Given the description of an element on the screen output the (x, y) to click on. 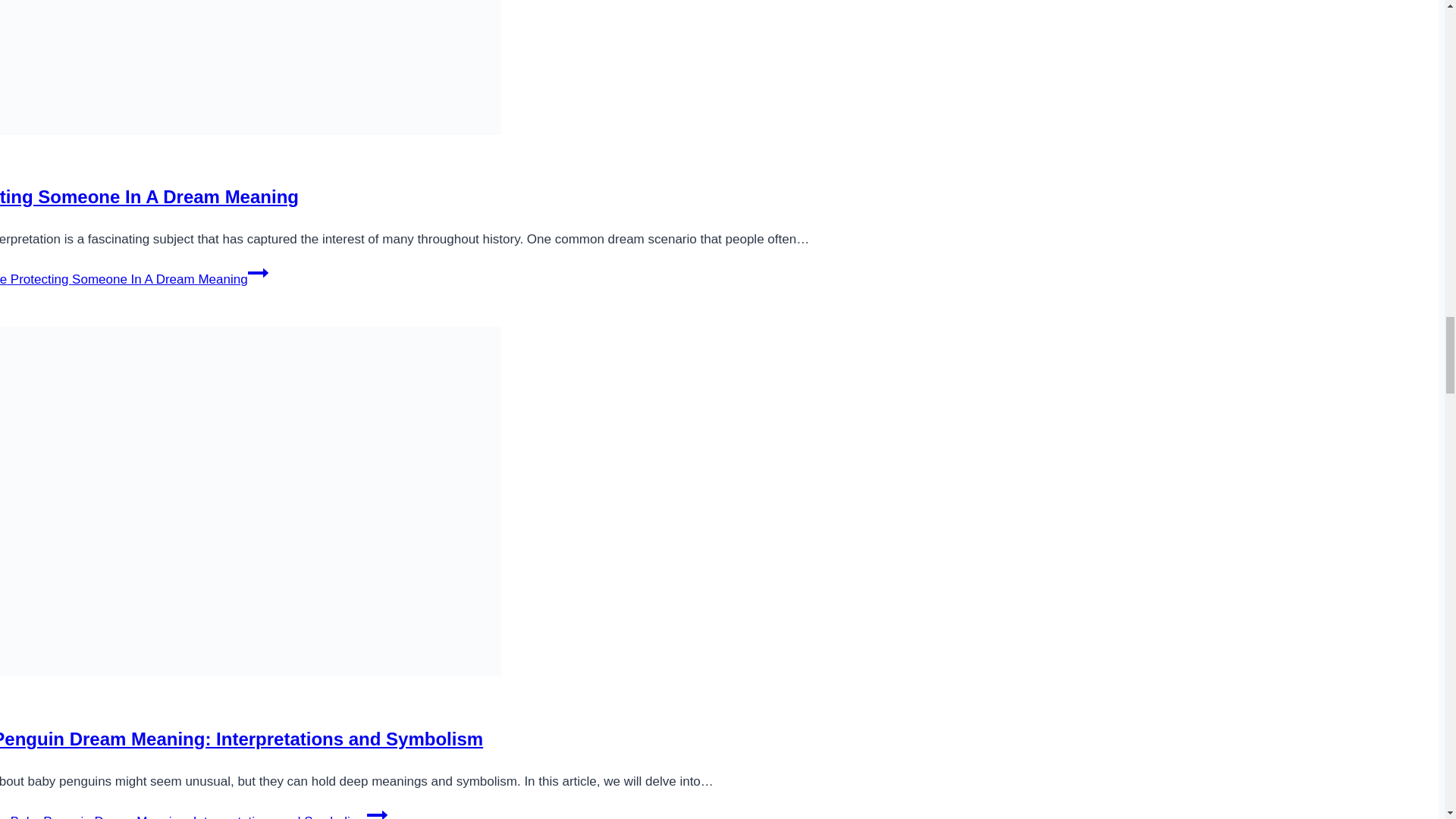
Continue (257, 272)
Protecting Someone In A Dream Meaning 2 (250, 67)
Continue (376, 811)
